Given the description of an element on the screen output the (x, y) to click on. 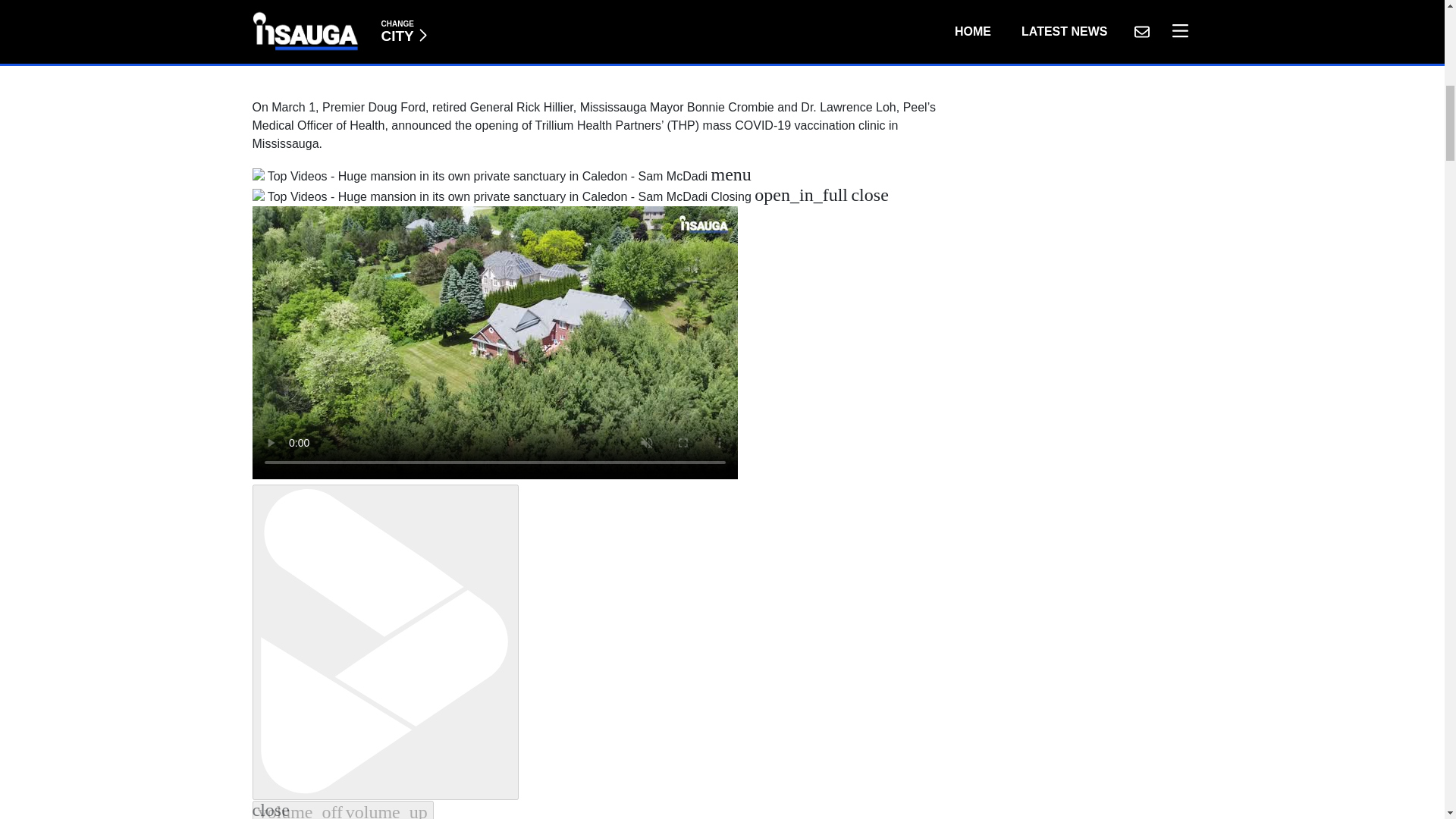
3rd party ad content (601, 41)
